Given the description of an element on the screen output the (x, y) to click on. 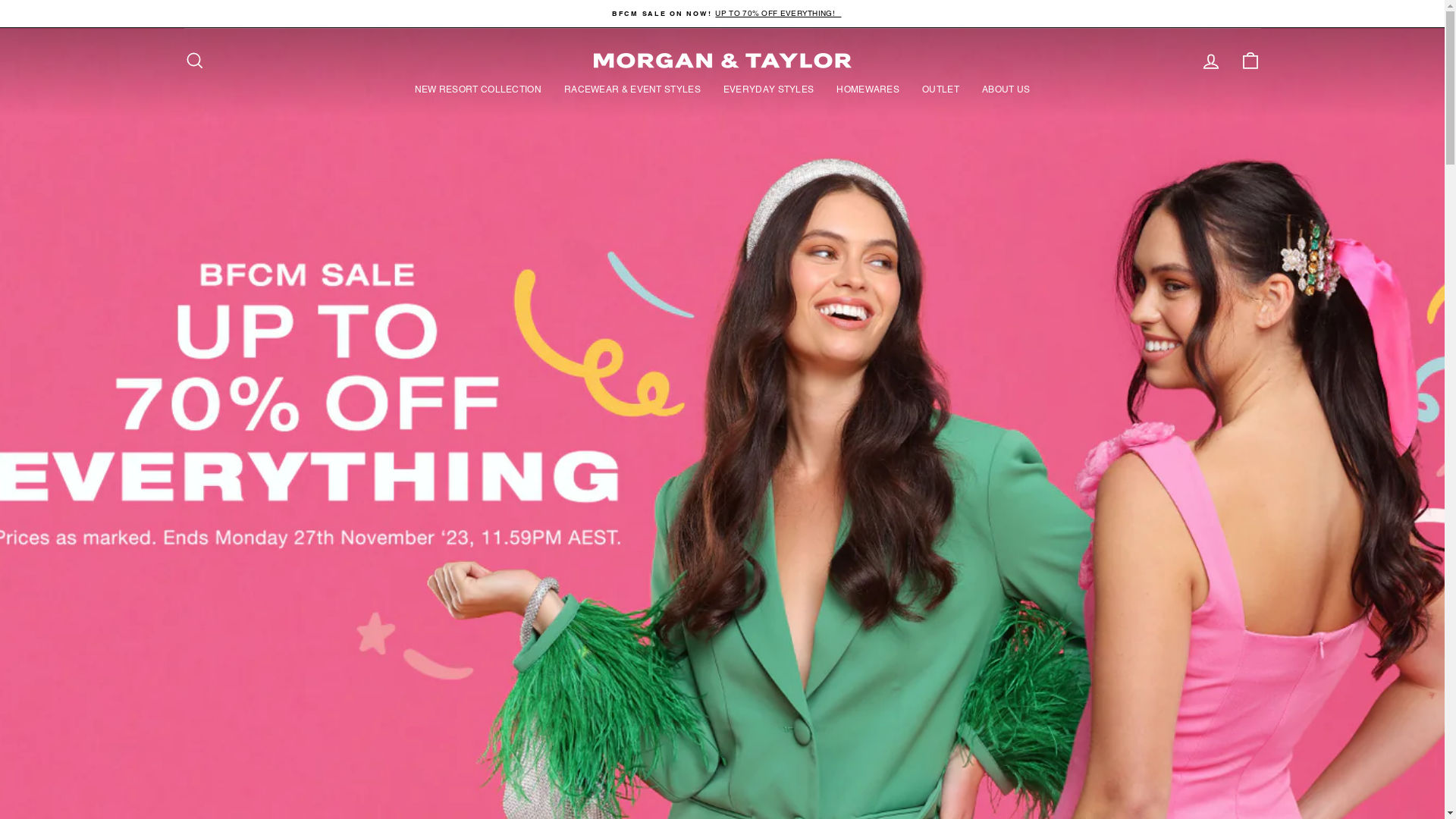
OUTLET Element type: text (940, 89)
Skip to content Element type: text (0, 0)
HOMEWARES Element type: text (867, 89)
Cart Element type: text (1249, 59)
NEW RESORT COLLECTION Element type: text (477, 89)
Search Element type: text (193, 59)
RACEWEAR & EVENT STYLES Element type: text (632, 89)
ABOUT US Element type: text (1005, 89)
EVERYDAY STYLES Element type: text (768, 89)
Log in Element type: text (1210, 59)
